Given the description of an element on the screen output the (x, y) to click on. 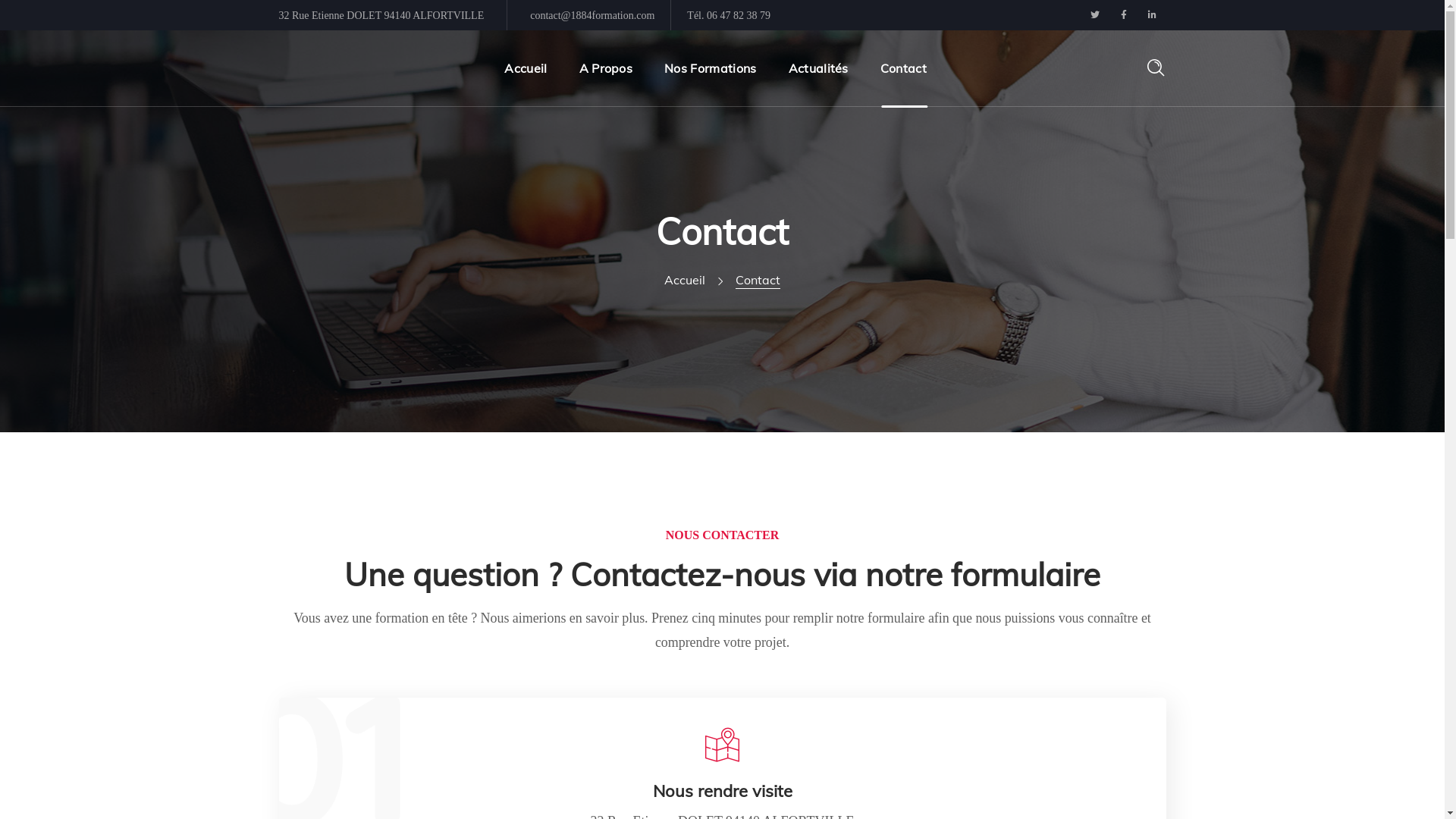
Rechercher Element type: text (1102, 160)
Accueil Element type: text (684, 279)
Accueil Element type: text (525, 68)
contact@1884formation.com Element type: text (592, 15)
Nos Formations Element type: text (709, 68)
A Propos Element type: text (606, 68)
Contact Element type: text (903, 68)
Rechercher Element type: text (1102, 54)
